Given the description of an element on the screen output the (x, y) to click on. 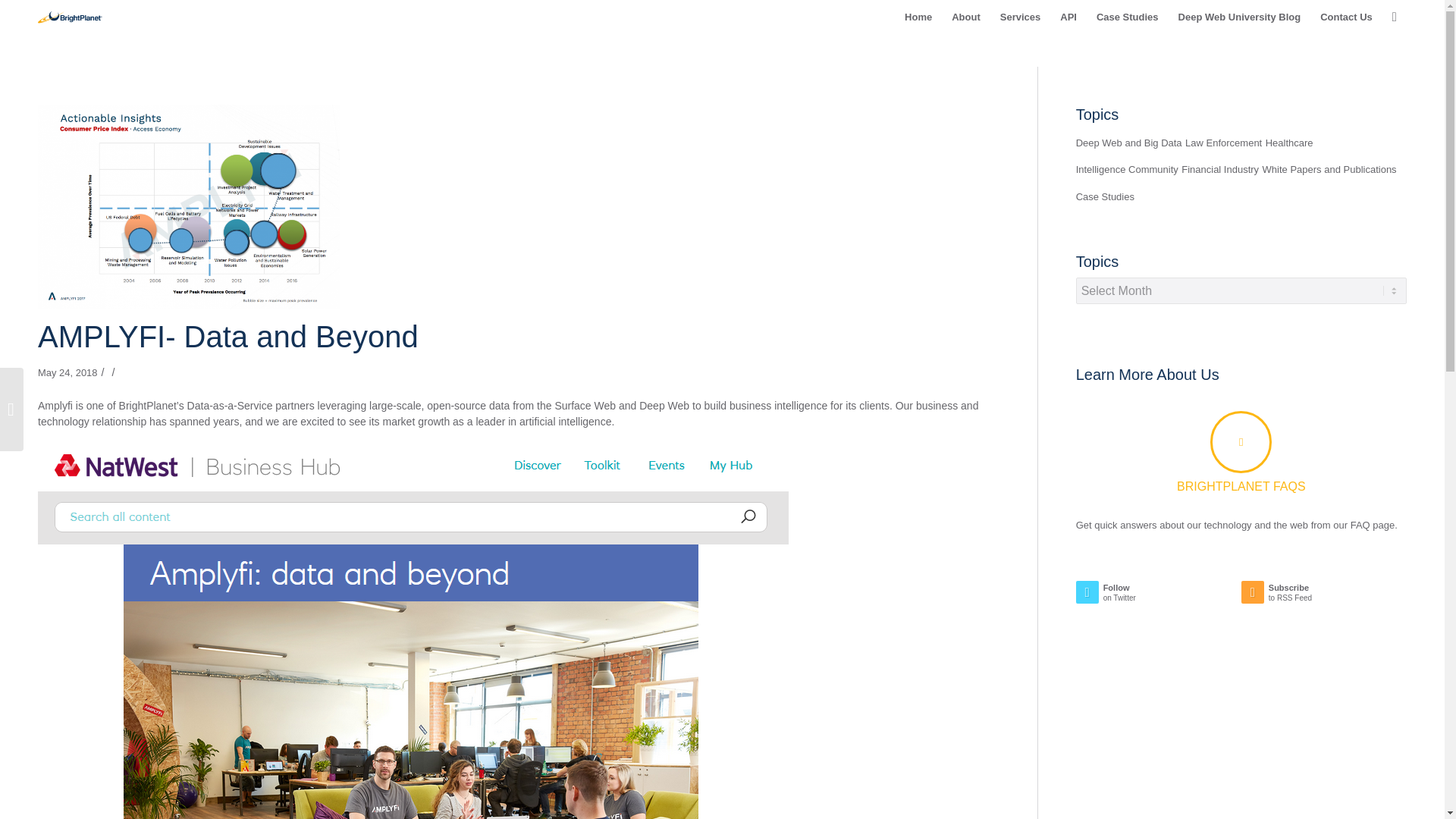
Intelligence Community (1126, 170)
Home (918, 17)
About (966, 17)
API (1067, 17)
Case Studies (1127, 17)
Law Enforcement (1223, 143)
Deep Web University Blog (1240, 17)
Deep Web and Big Data (1128, 143)
Case Studies (1104, 197)
Financial Industry (1219, 170)
